Given the description of an element on the screen output the (x, y) to click on. 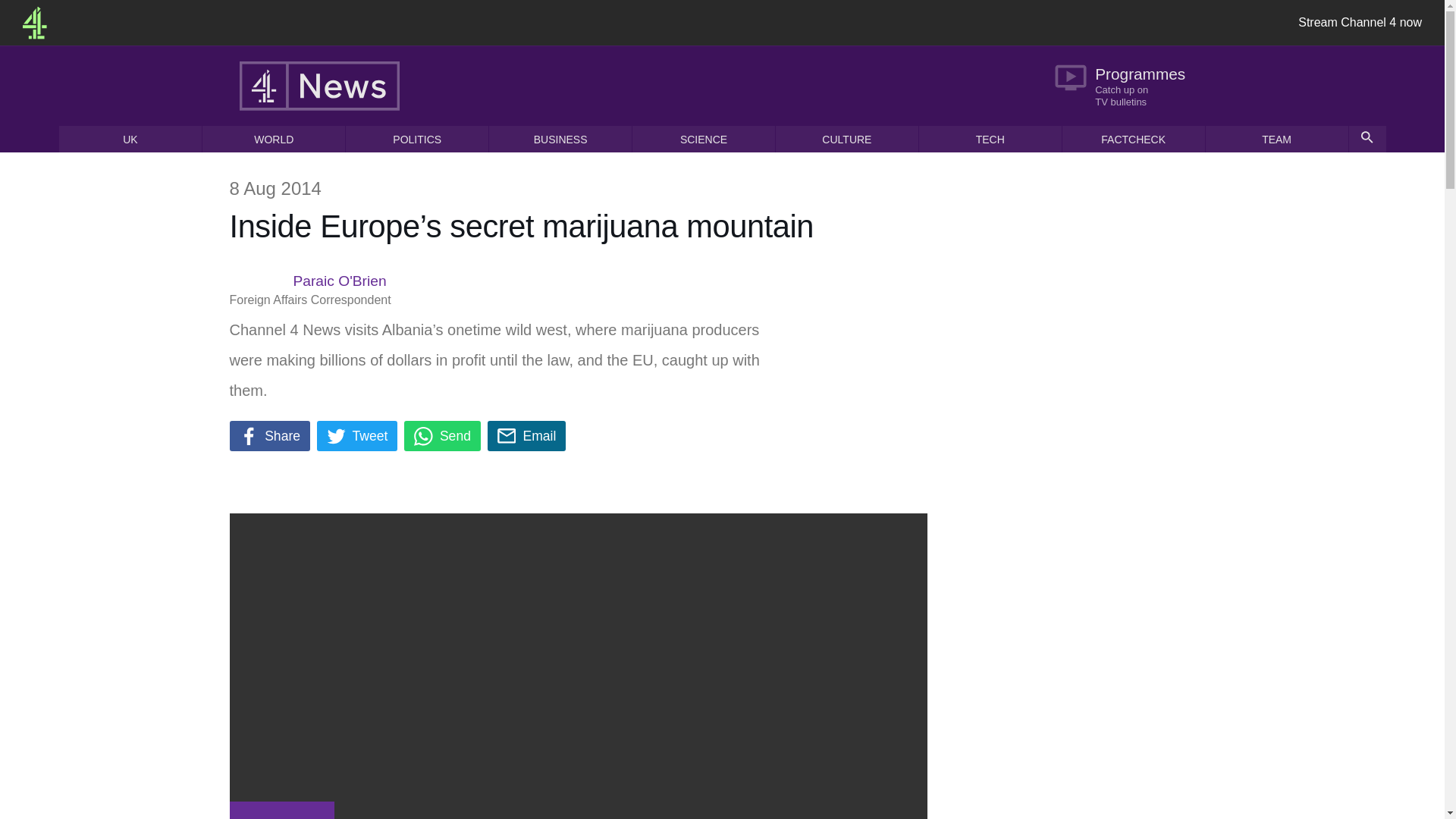
UK news (130, 139)
POLITICS (416, 139)
Science news (1126, 85)
Share (702, 139)
Play Video (269, 435)
Email (280, 810)
Tech news (526, 435)
SCIENCE (989, 139)
Politics news (702, 139)
